Given the description of an element on the screen output the (x, y) to click on. 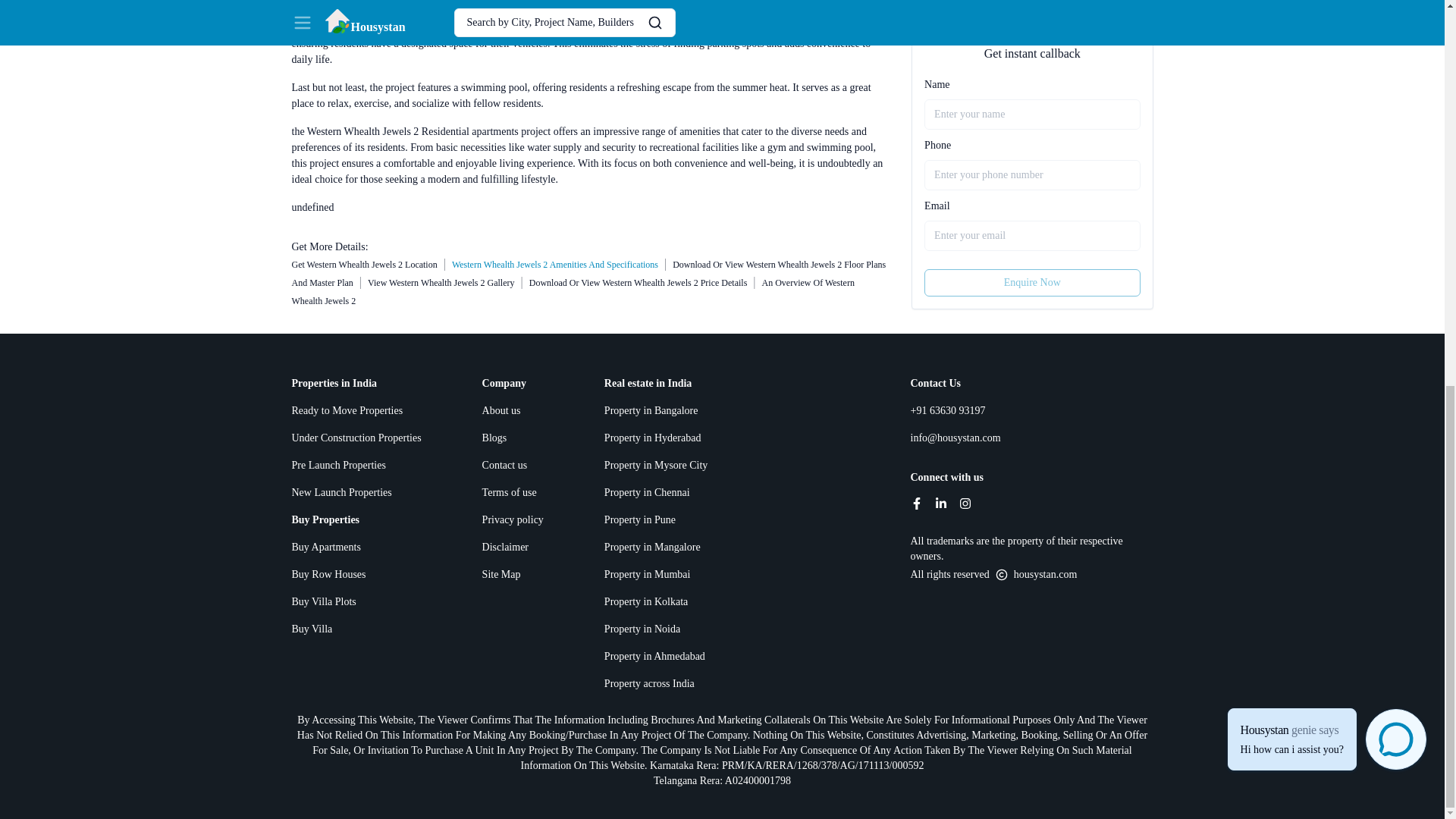
Site Map (512, 574)
Get Western Whealth Jewels 2 Location (363, 264)
Facebook (915, 503)
Download Or View Western Whealth Jewels 2 Price Details (638, 282)
Property in Ahmedabad (655, 656)
Buy Apartments (355, 547)
Ready to Move Properties (355, 410)
New Launch Properties (355, 492)
Buy Row Houses (355, 574)
Linkedin (940, 503)
Pre Launch Properties (355, 465)
Contact us (512, 465)
Buy Villa (355, 629)
Property in Kolkata (655, 601)
